Given the description of an element on the screen output the (x, y) to click on. 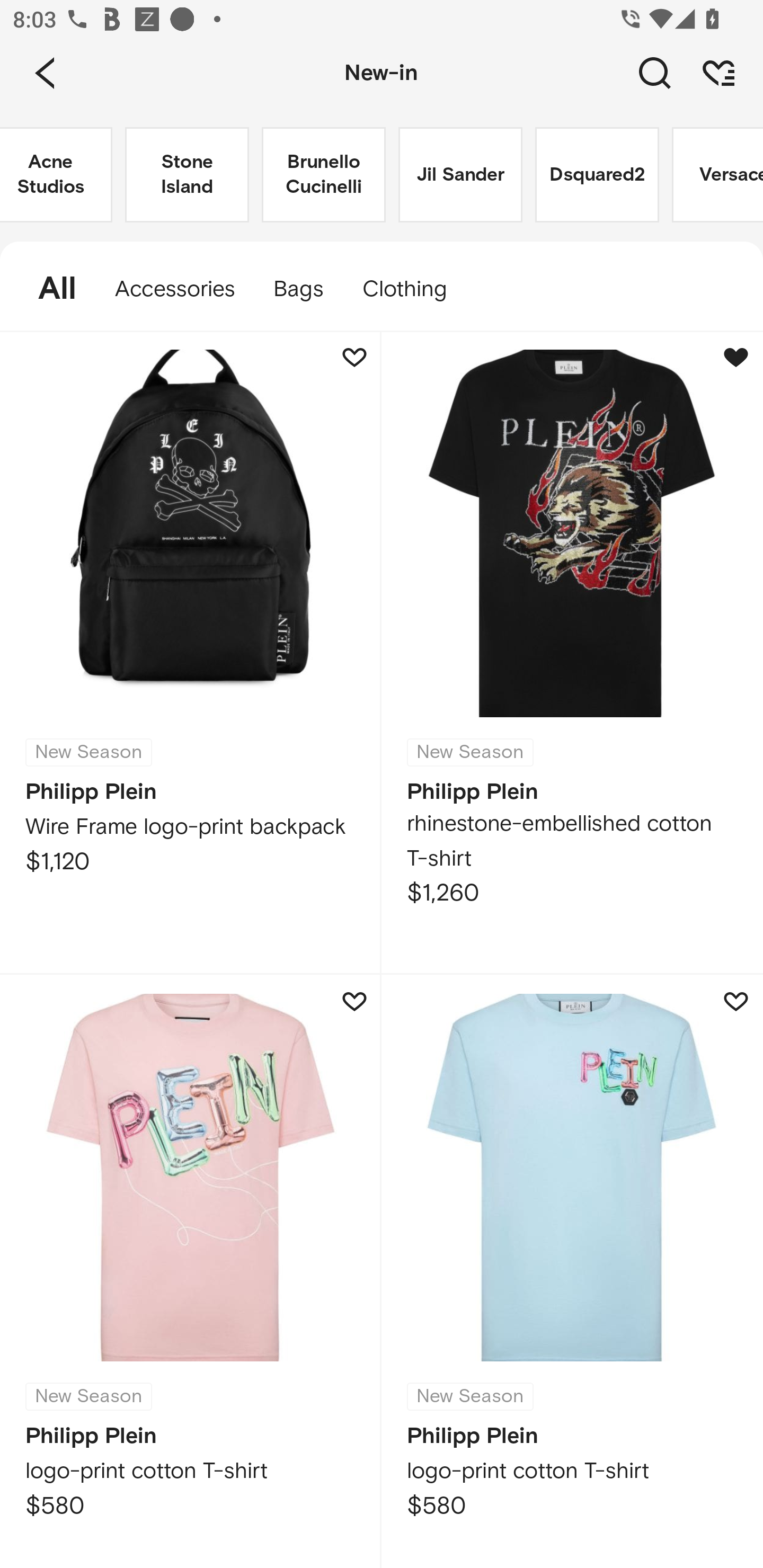
Acne Studios (56, 174)
Stone Island (186, 174)
Brunello Cucinelli (323, 174)
Jil Sander (460, 174)
Dsquared2 (596, 174)
All (47, 288)
Accessories (174, 288)
Bags (298, 288)
Clothing (413, 288)
